Given the description of an element on the screen output the (x, y) to click on. 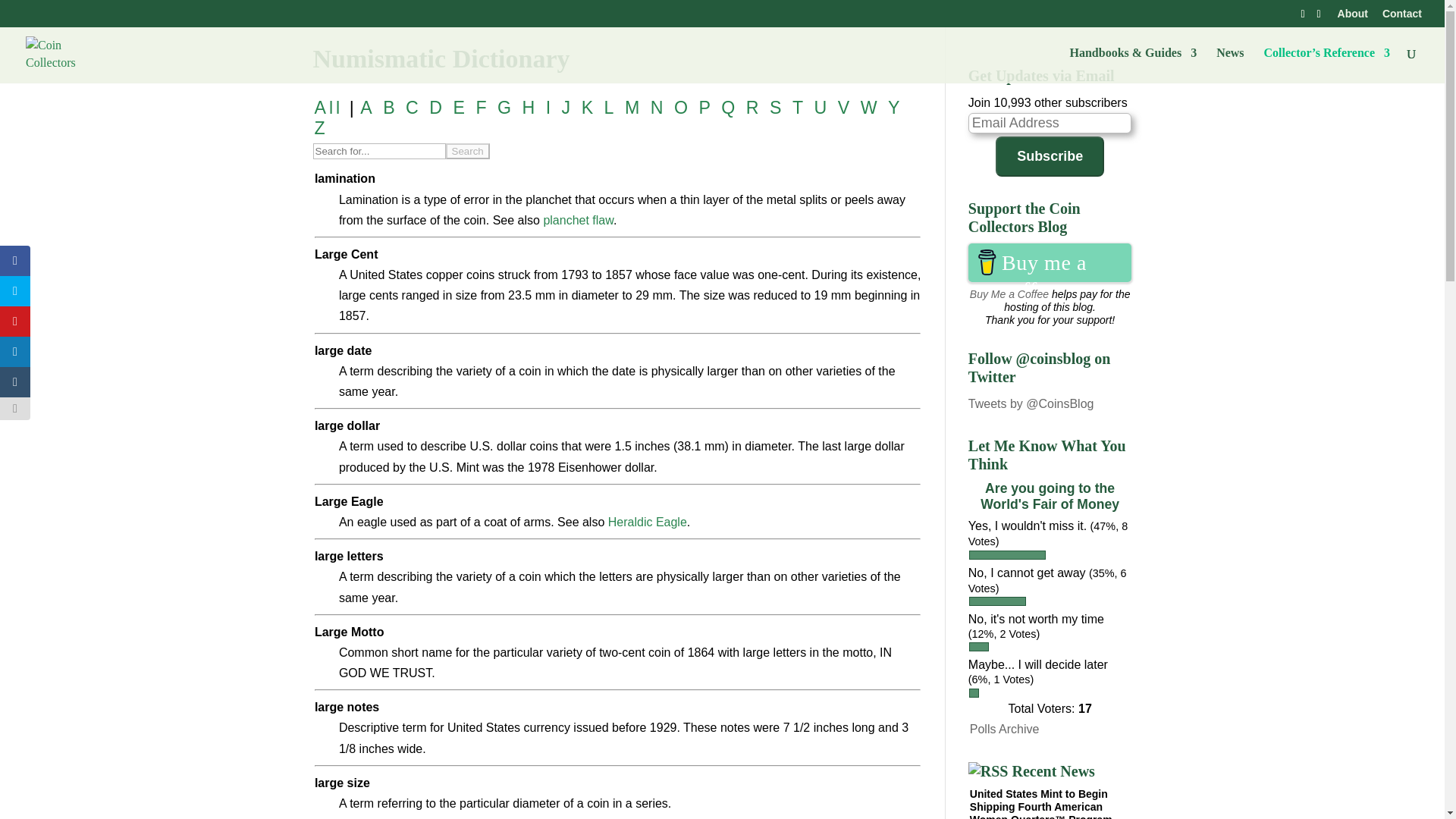
G (505, 107)
H (528, 107)
D (437, 107)
Contact (1401, 16)
News (1229, 65)
About (1353, 16)
C (413, 107)
A (366, 107)
B (389, 107)
Search (467, 150)
R (753, 107)
O (682, 107)
J (567, 107)
K (587, 107)
N (658, 107)
